Given the description of an element on the screen output the (x, y) to click on. 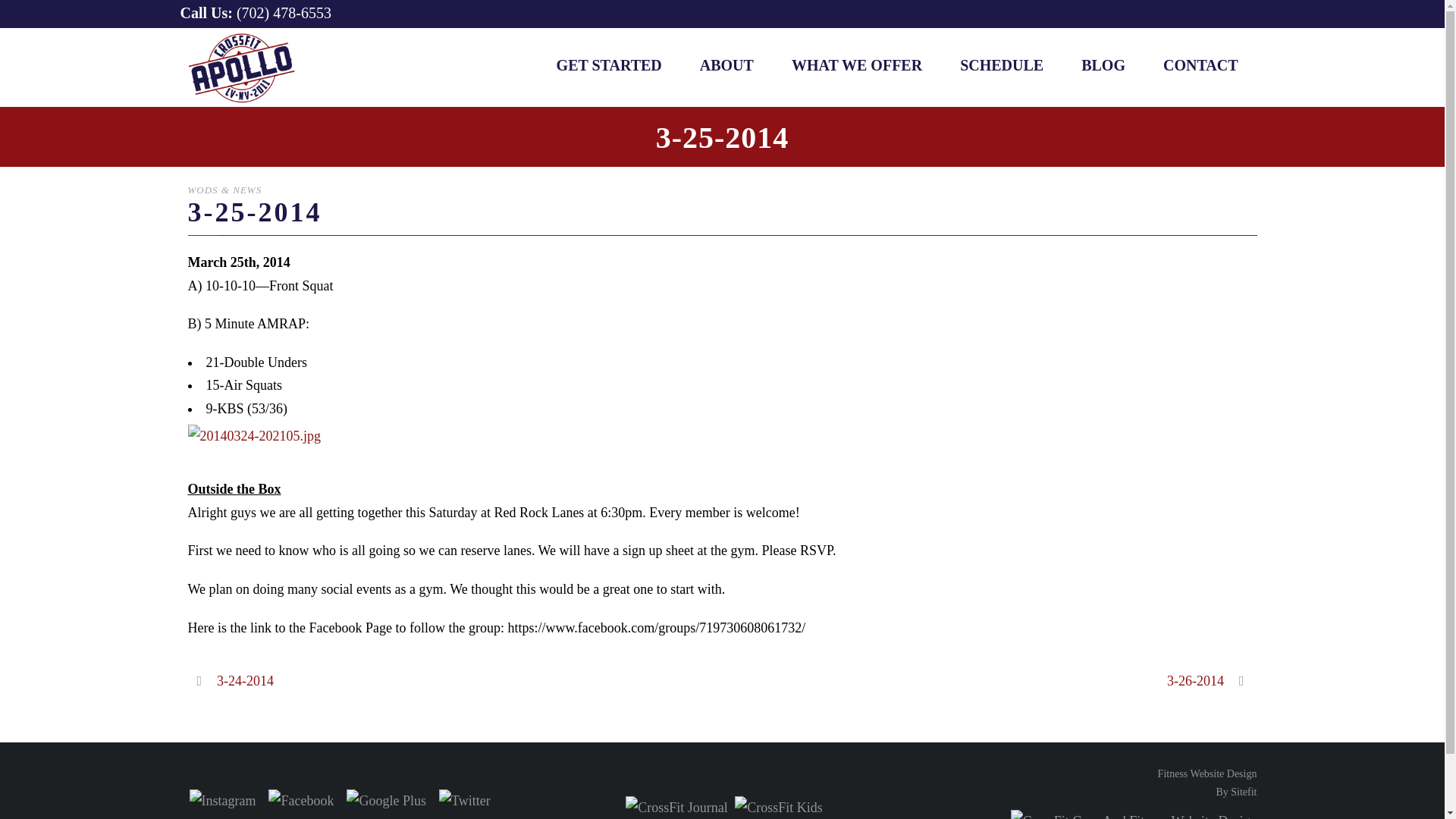
3-26-2014 (1212, 680)
GET STARTED (1207, 782)
SCHEDULE (609, 79)
3-24-2014 (1001, 79)
WHAT WE OFFER (231, 680)
ABOUT (856, 79)
Gym And Fitness Website Design (727, 79)
CONTACT (1207, 782)
